Given the description of an element on the screen output the (x, y) to click on. 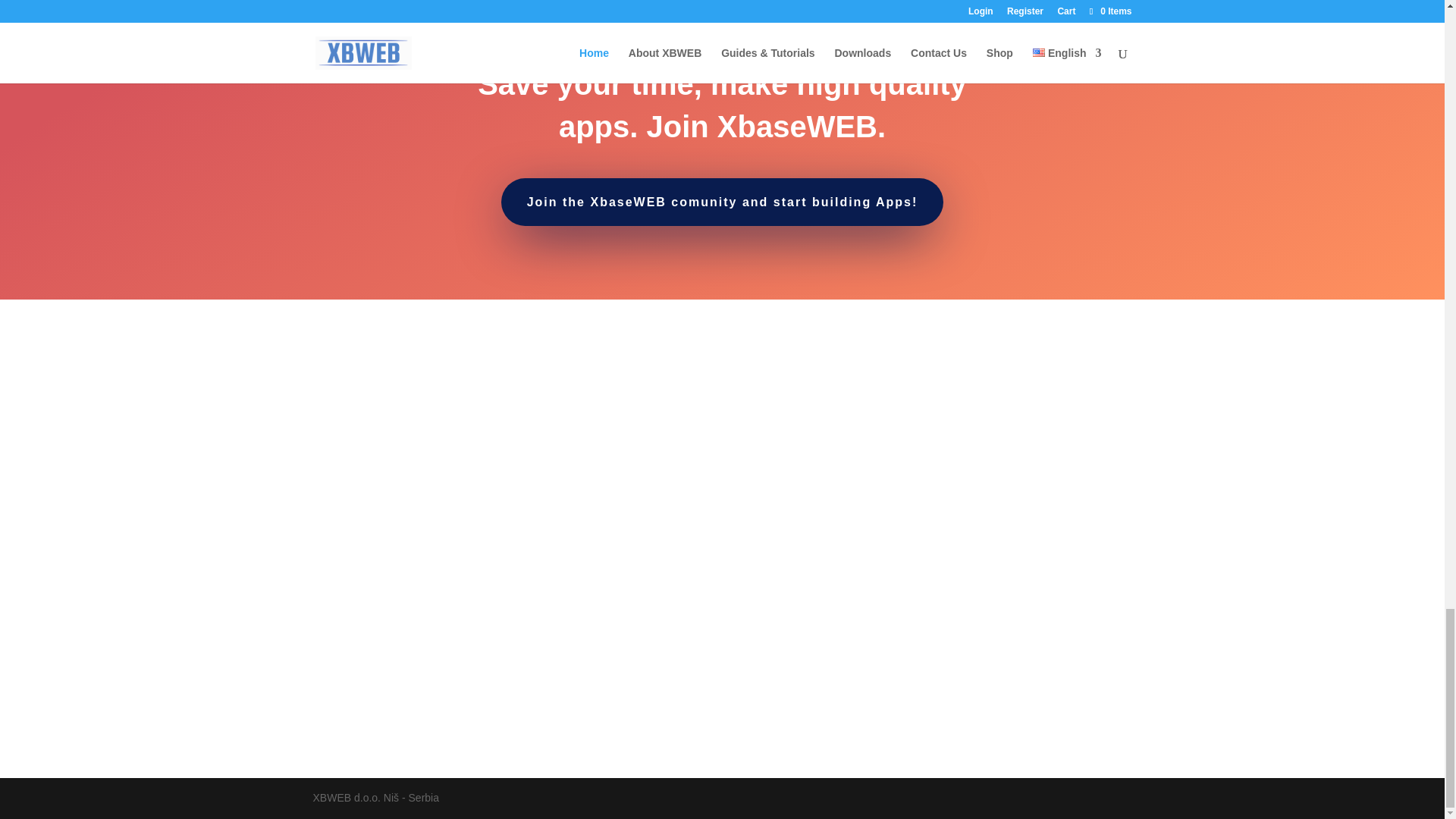
Join the XbaseWEB comunity and start building Apps! (721, 202)
